Given the description of an element on the screen output the (x, y) to click on. 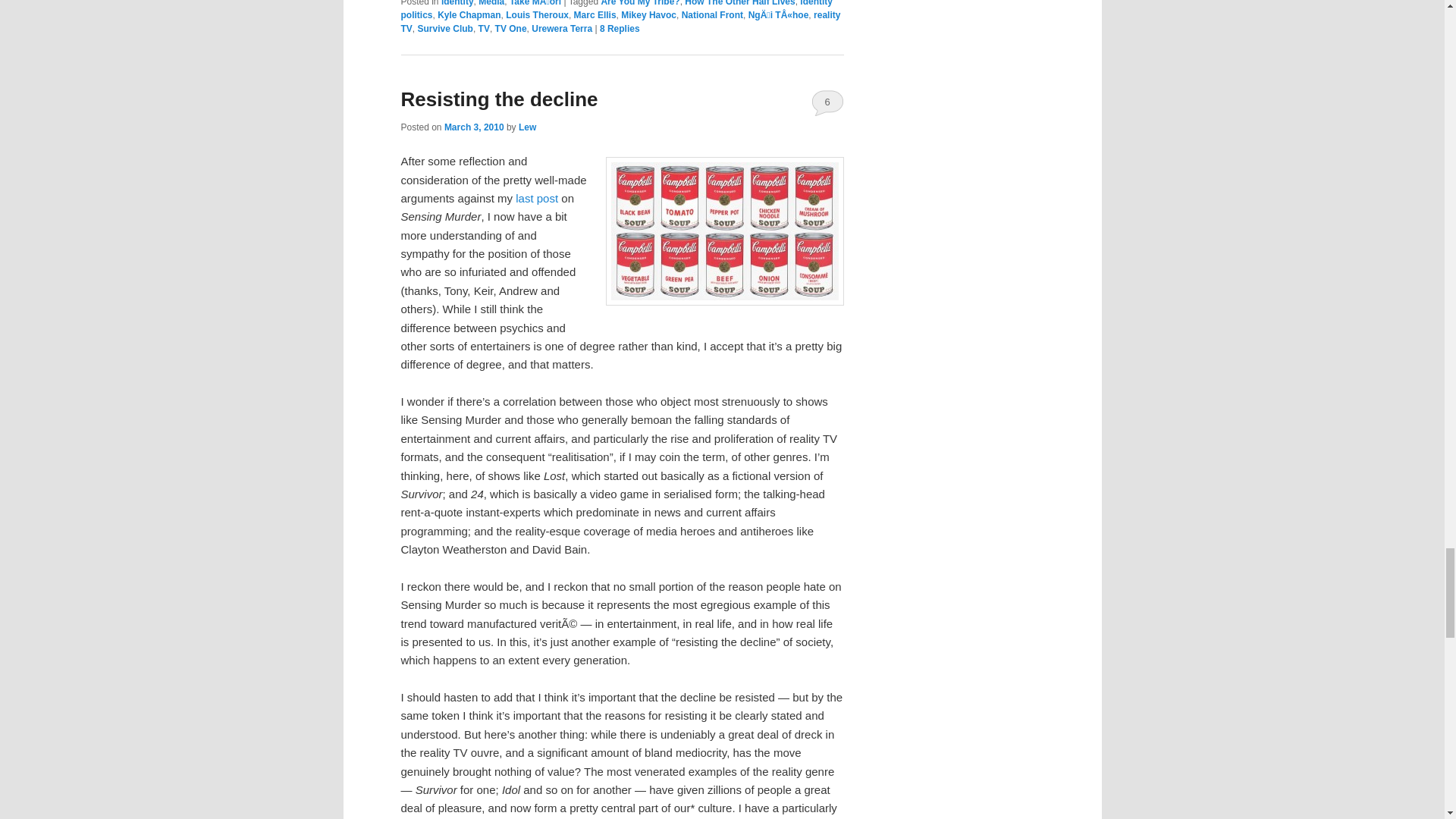
17:19 (473, 127)
View all posts by Lew (526, 127)
